Given the description of an element on the screen output the (x, y) to click on. 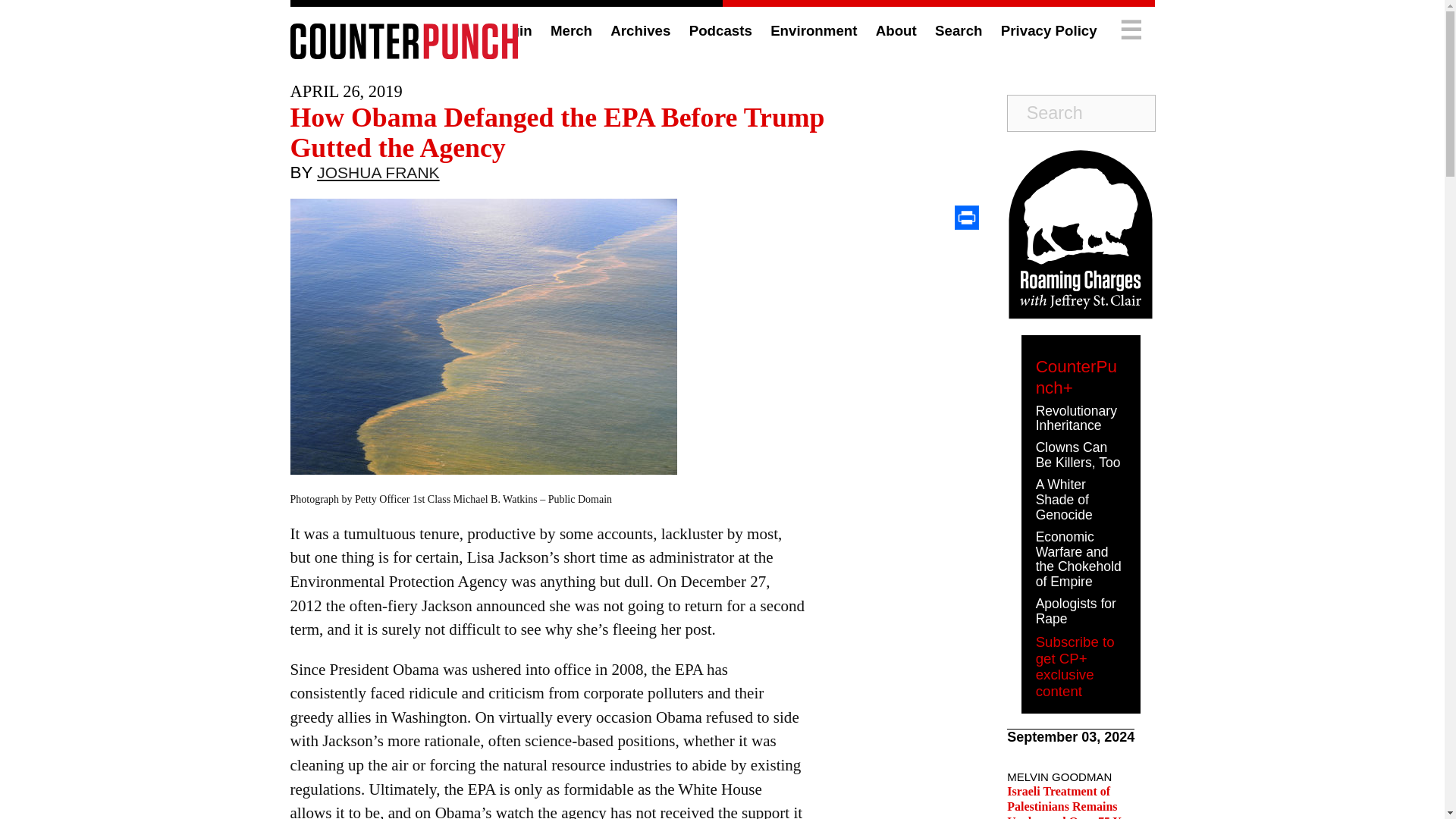
Economic Warfare and the Chokehold of Empire (1078, 558)
Privacy Policy (1049, 30)
Environment (813, 30)
Login (512, 30)
Podcasts (720, 30)
A Whiter Shade of Genocide (1064, 499)
Merch (571, 30)
2019-04-26 (345, 90)
JOSHUA FRANK (378, 176)
Print This Post (966, 217)
